Given the description of an element on the screen output the (x, y) to click on. 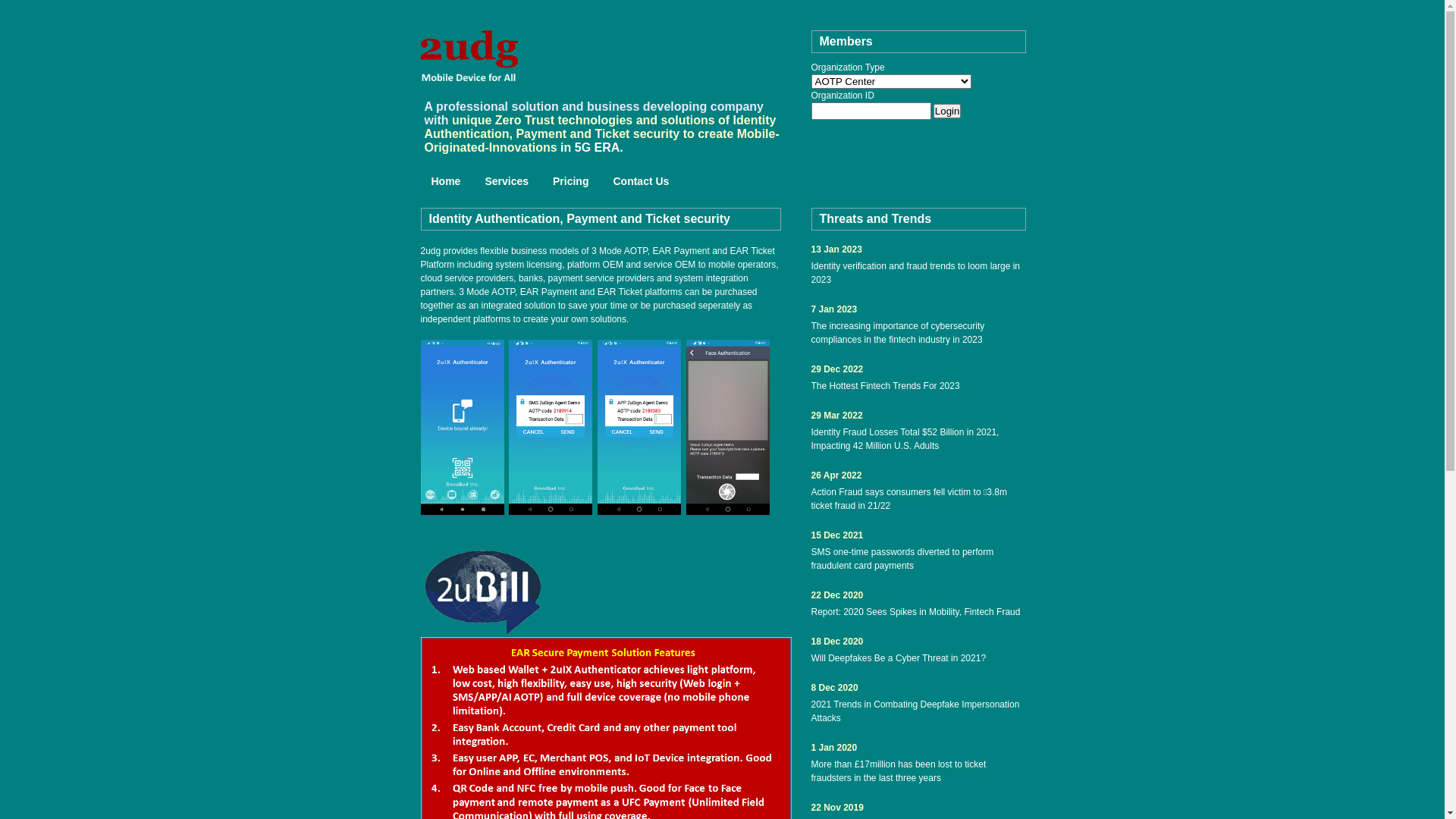
Pricing Element type: text (570, 181)
The Hottest Fintech Trends For 2023 Element type: text (918, 385)
Will Deepfakes Be a Cyber Threat in 2021? Element type: text (918, 658)
Identity verification and fraud trends to loom large in 2023 Element type: text (918, 272)
Login Element type: text (947, 110)
2021 Trends in Combating Deepfake Impersonation Attacks Element type: text (918, 710)
Contact Us Element type: text (640, 181)
Report: 2020 Sees Spikes in Mobility, Fintech Fraud Element type: text (918, 611)
Home Element type: text (446, 181)
Services Element type: text (506, 181)
